Given the description of an element on the screen output the (x, y) to click on. 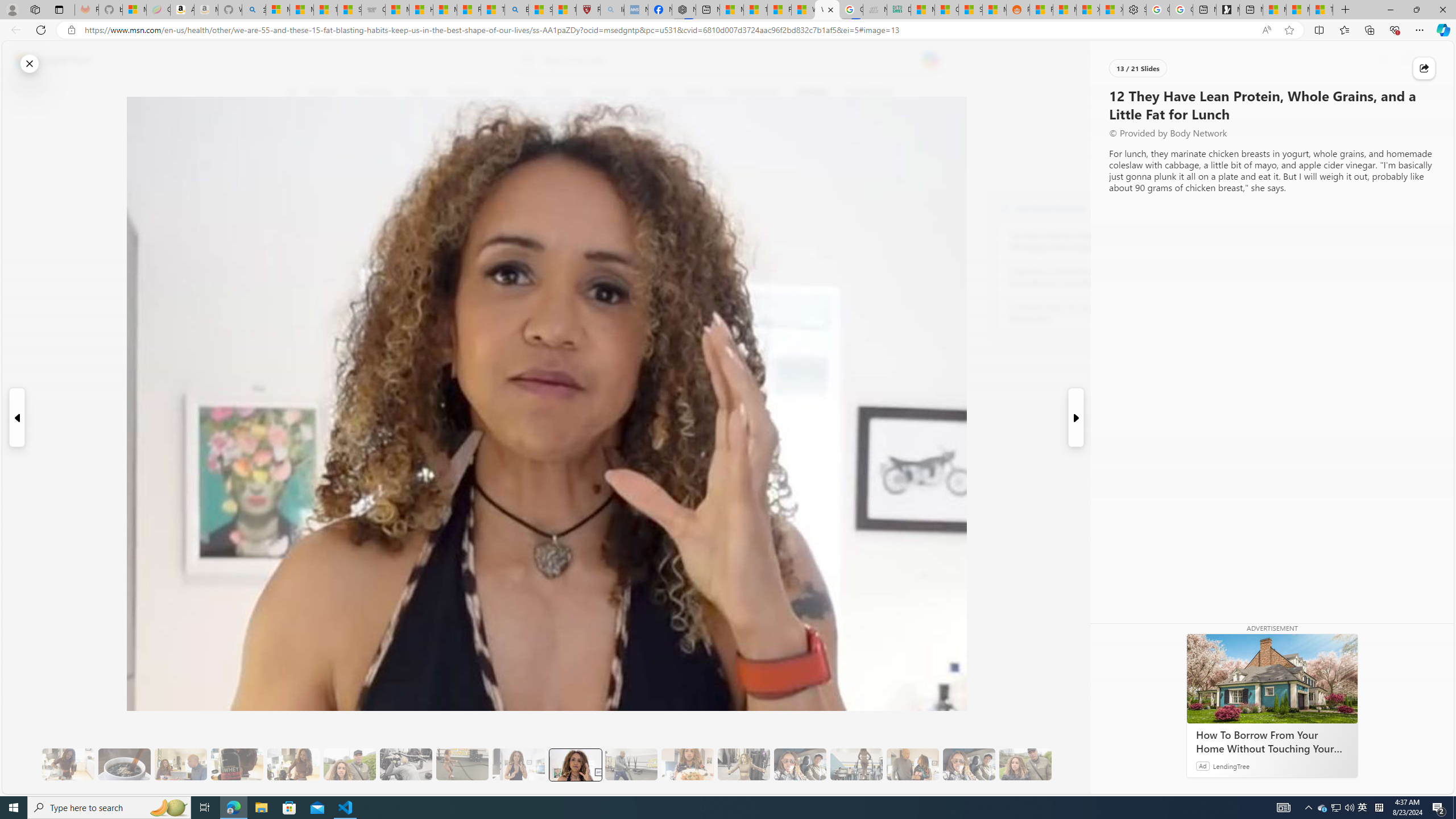
13 Her Husband Does Group Cardio Classs (631, 764)
Notifications (1405, 60)
Skip to footer (46, 59)
Feedback (1410, 784)
Stocks - MSN (970, 9)
Combat Siege (373, 9)
10 Then, They Do HIIT Cardio (462, 764)
LendingTree (1231, 765)
Lifestyle (812, 92)
8 Be Mindful of Coffee (124, 764)
